Given the description of an element on the screen output the (x, y) to click on. 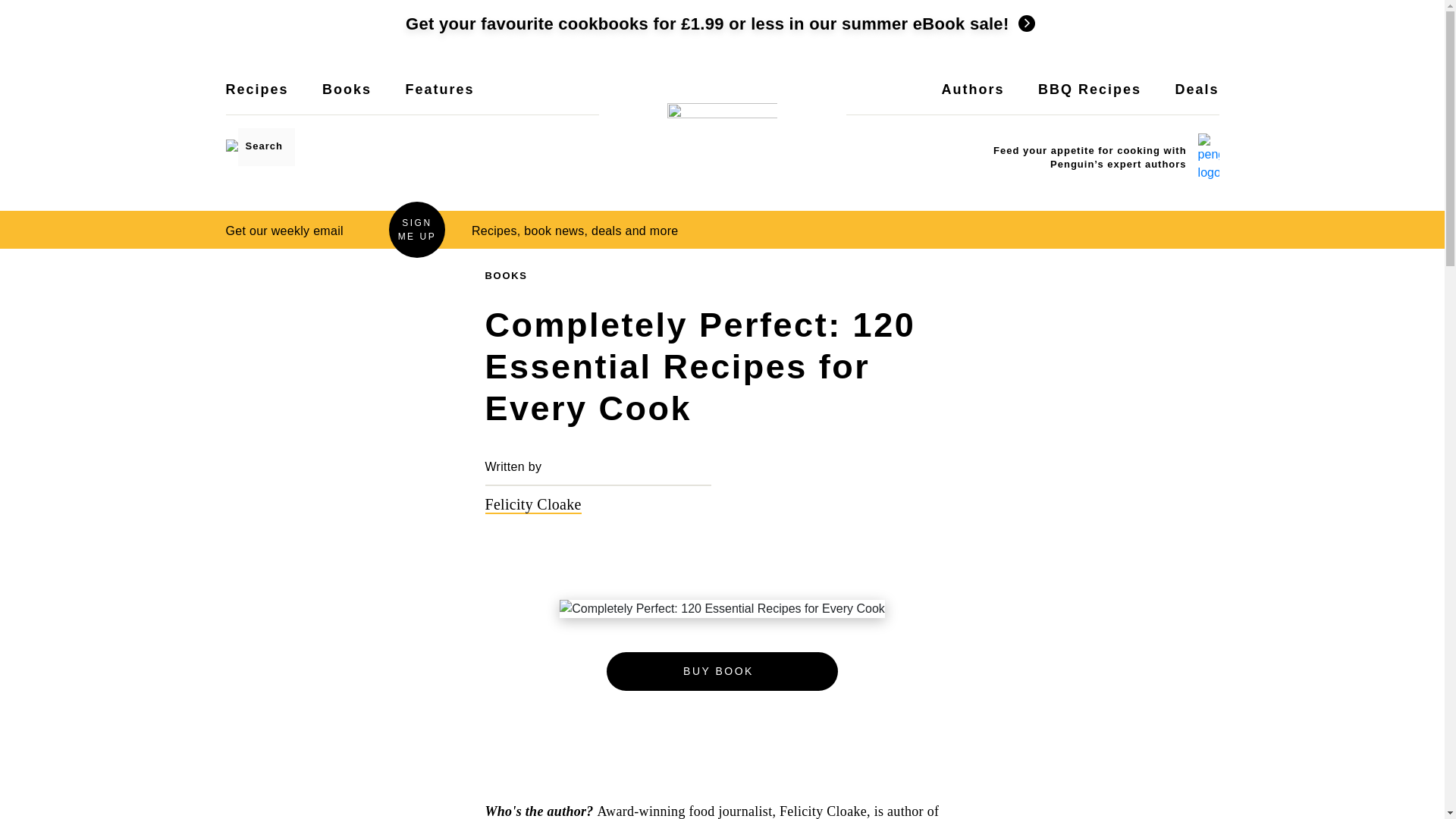
BBQ Recipes (1089, 98)
Authors (973, 98)
Features (439, 98)
Books (346, 98)
Deals (1196, 98)
Recipes (256, 98)
